Given the description of an element on the screen output the (x, y) to click on. 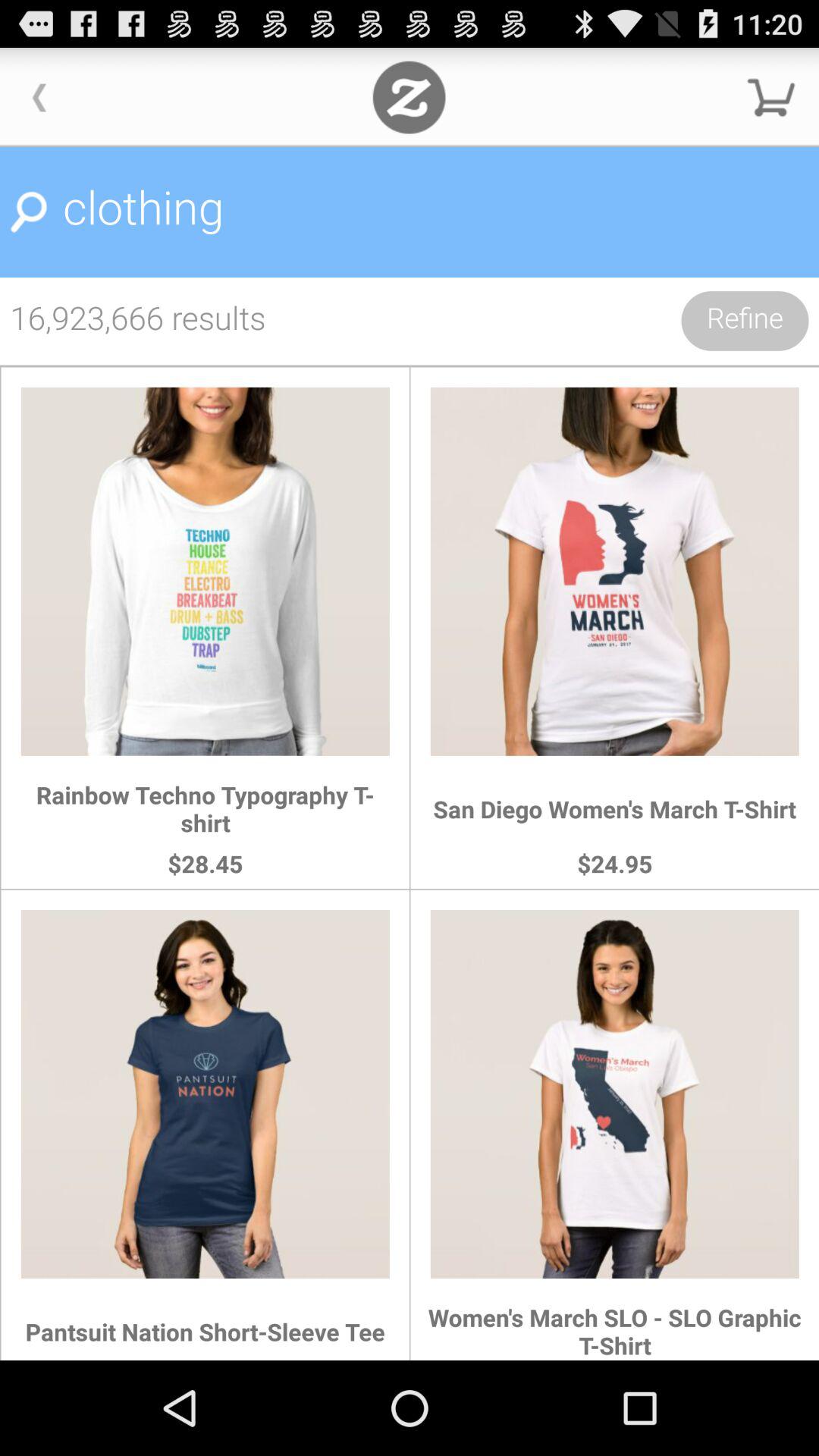
select item to the right of 16 923 666 (744, 320)
